Given the description of an element on the screen output the (x, y) to click on. 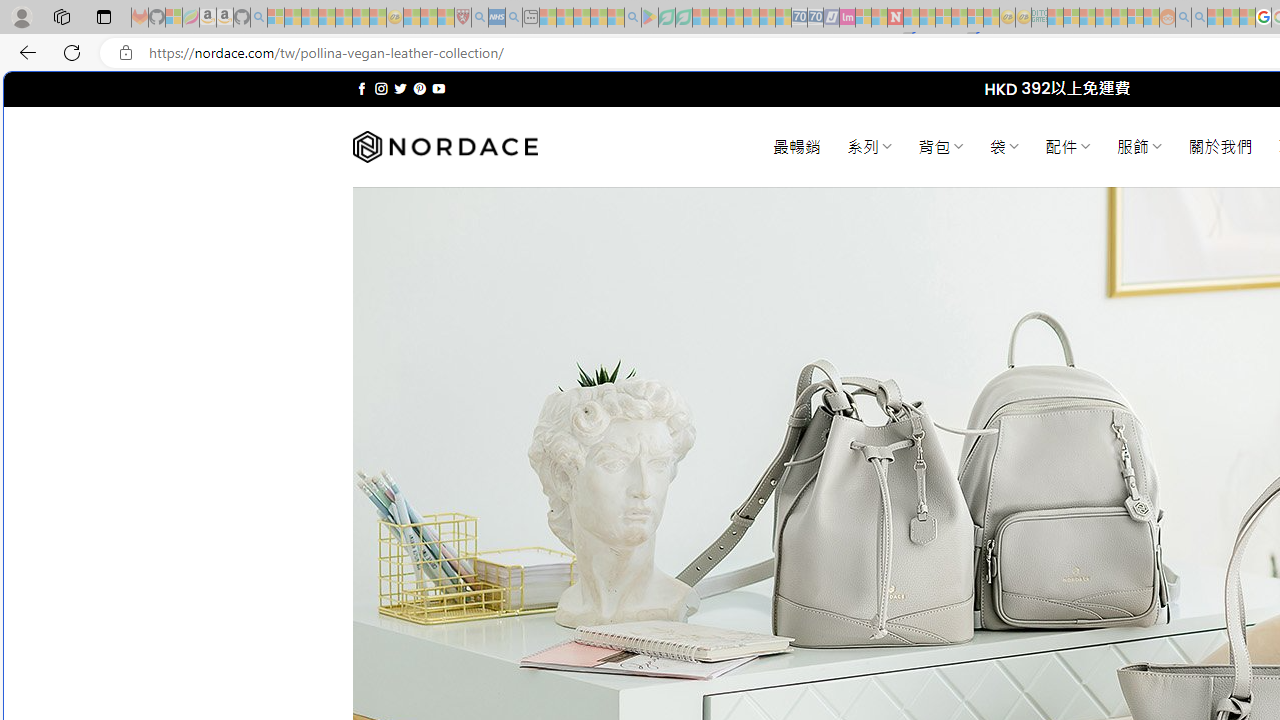
Expert Portfolios - Sleeping (1103, 17)
Personal Profile (21, 16)
MSNBC - MSN - Sleeping (1055, 17)
Terms of Use Agreement - Sleeping (666, 17)
